Given the description of an element on the screen output the (x, y) to click on. 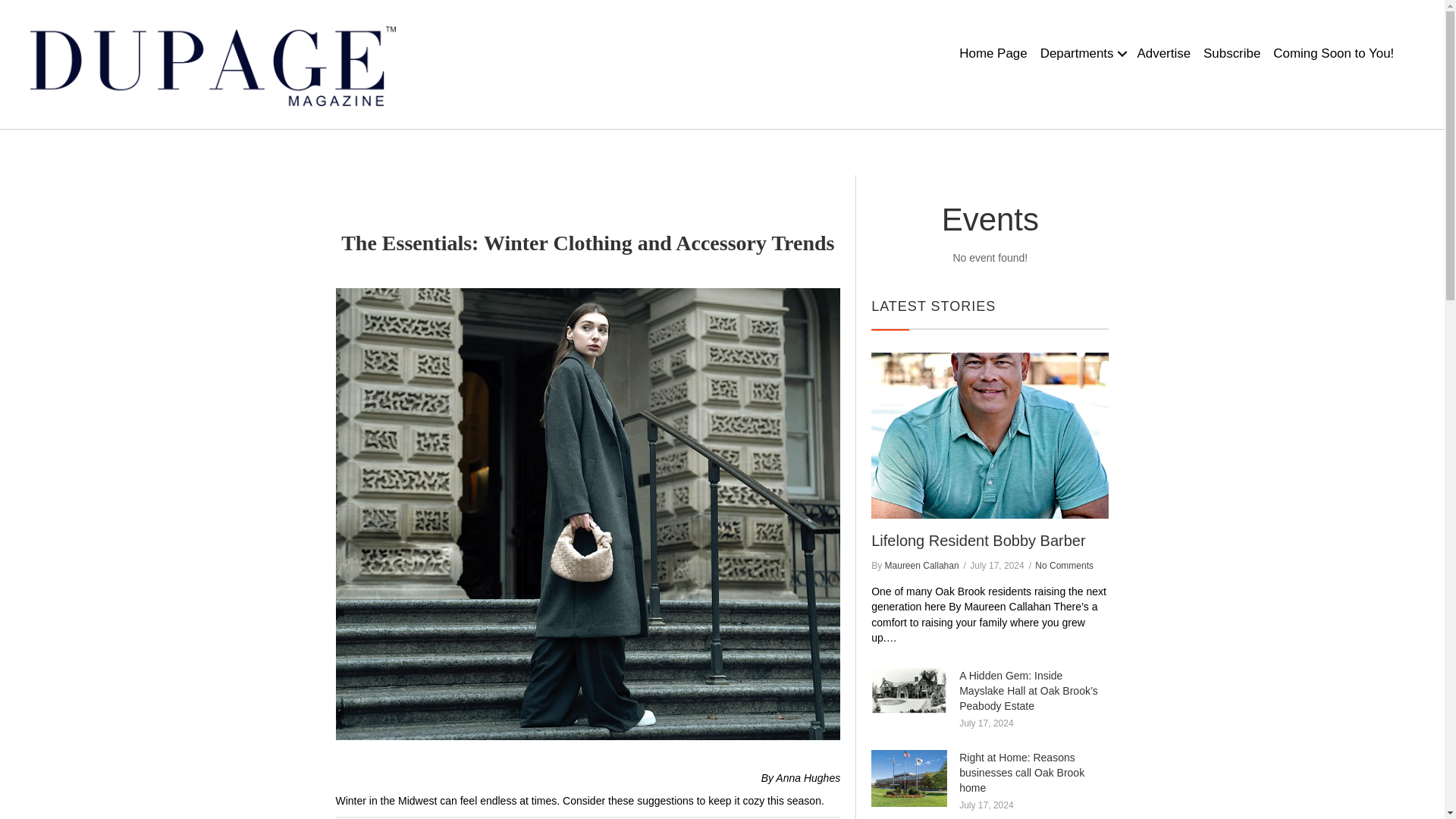
Subscribe (1231, 53)
Lifelong-Resident-Bobby-Barber (989, 435)
Right at Home: Reasons businesses call Oak Brook home (1021, 772)
Lifelong Resident Bobby Barber (977, 540)
DUPAGE MAGAZINE MASTHEAD-5 (213, 66)
Click to copy shortcode (989, 257)
Home Page (992, 53)
Lifelong Resident Bobby Barber (977, 540)
Maureen Callahan (922, 565)
Wednesday, July, 2024, 2:49 pm (986, 805)
Comment on Lifelong Resident Bobby Barber (1064, 565)
Wednesday, July, 2024, 2:58 pm (996, 565)
Right at Home: Reasons businesses call Oak Brook home (1021, 772)
Wednesday, July, 2024, 2:53 pm (986, 723)
